Given the description of an element on the screen output the (x, y) to click on. 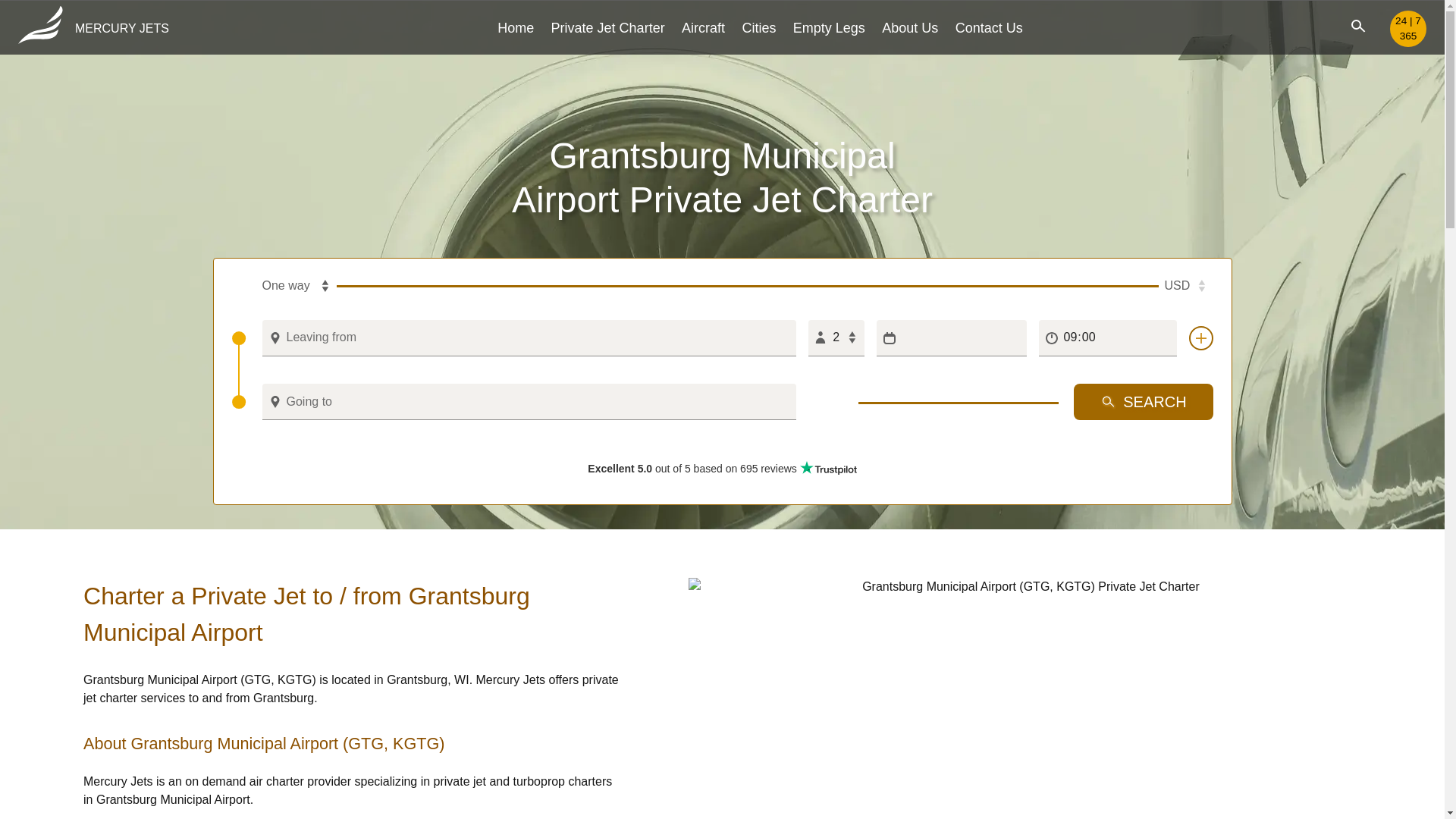
Empty Legs (828, 27)
About Us (909, 27)
MERCURY JETS (92, 28)
Cities (758, 27)
Contact Us (989, 27)
Private Jet Charter (608, 27)
09:00 (1107, 338)
Home (515, 27)
Excellent 5.0 out of 5 based on 695 reviews (722, 468)
SEARCH (1143, 402)
